Given the description of an element on the screen output the (x, y) to click on. 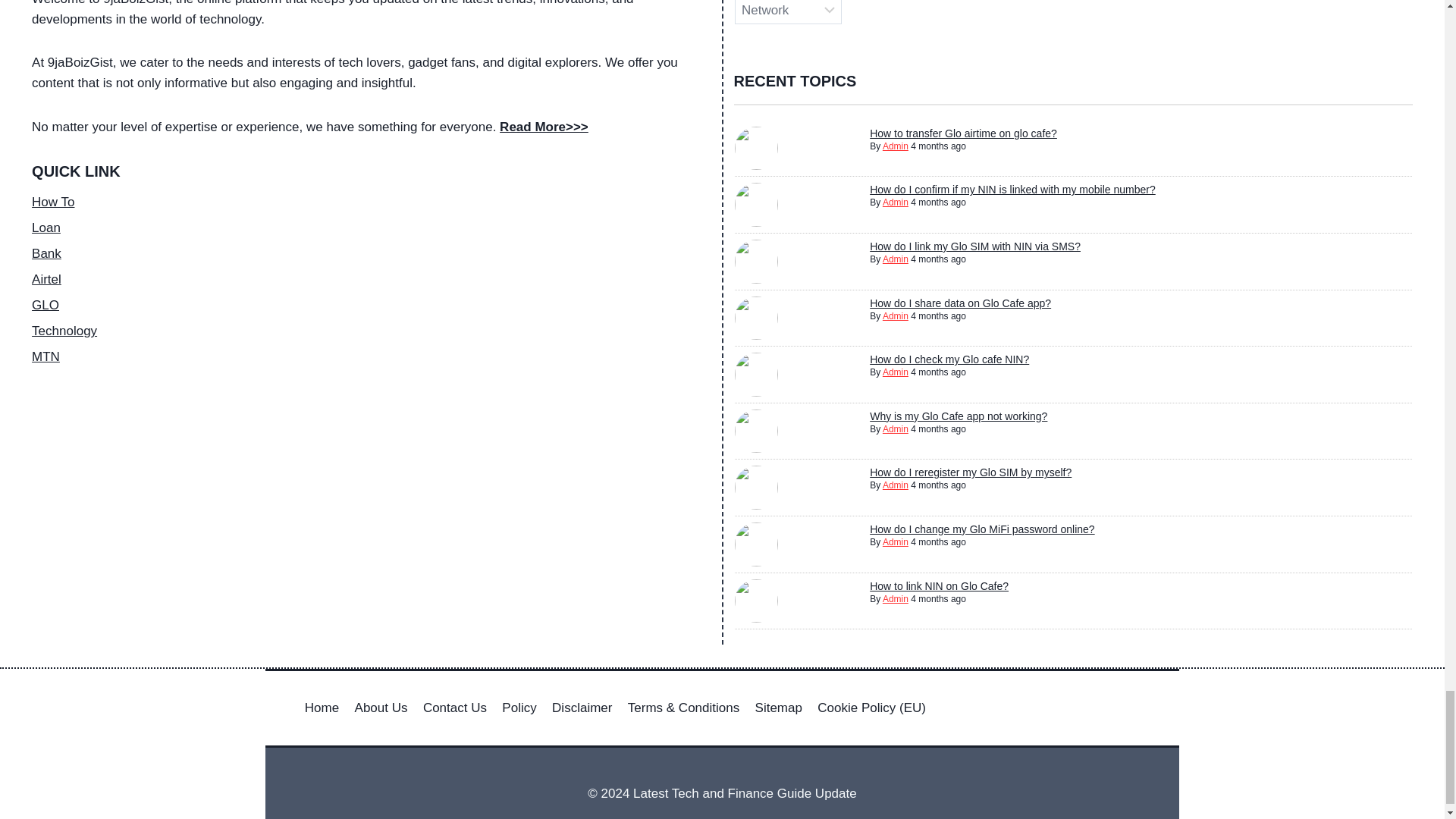
Admin (895, 258)
How do I share data on Glo Cafe app? (960, 303)
How to transfer Glo airtime on glo cafe? (963, 133)
How do I link my Glo SIM with NIN via SMS? (974, 246)
Admin (895, 202)
How do I confirm if my NIN is linked with my mobile number? (1012, 189)
Admin (895, 145)
